Given the description of an element on the screen output the (x, y) to click on. 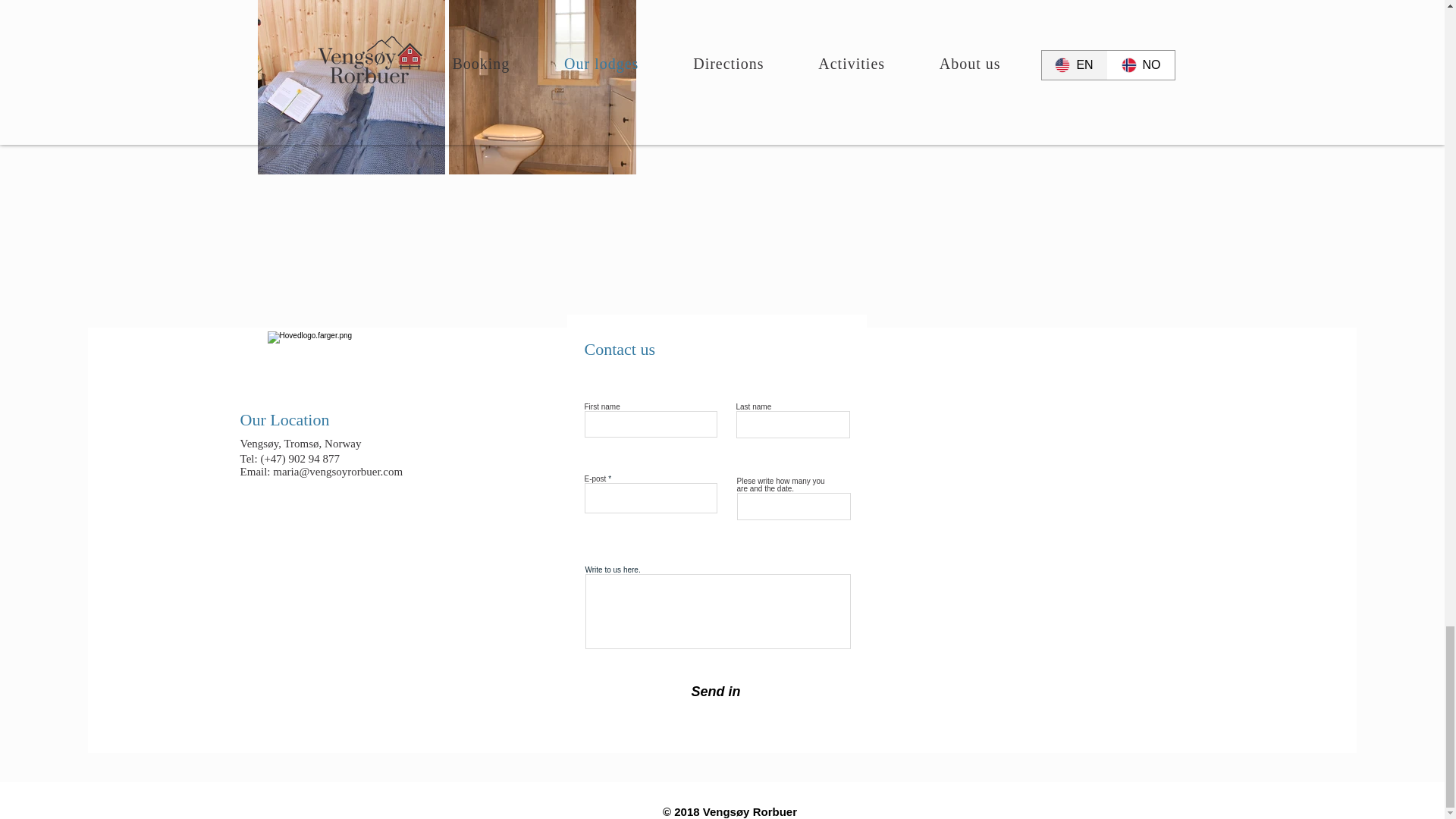
ROUTE  (420, 378)
CONTACT (695, 378)
FREQUENTLY ASKED QUESTIONS (551, 392)
Send in (715, 692)
